Given the description of an element on the screen output the (x, y) to click on. 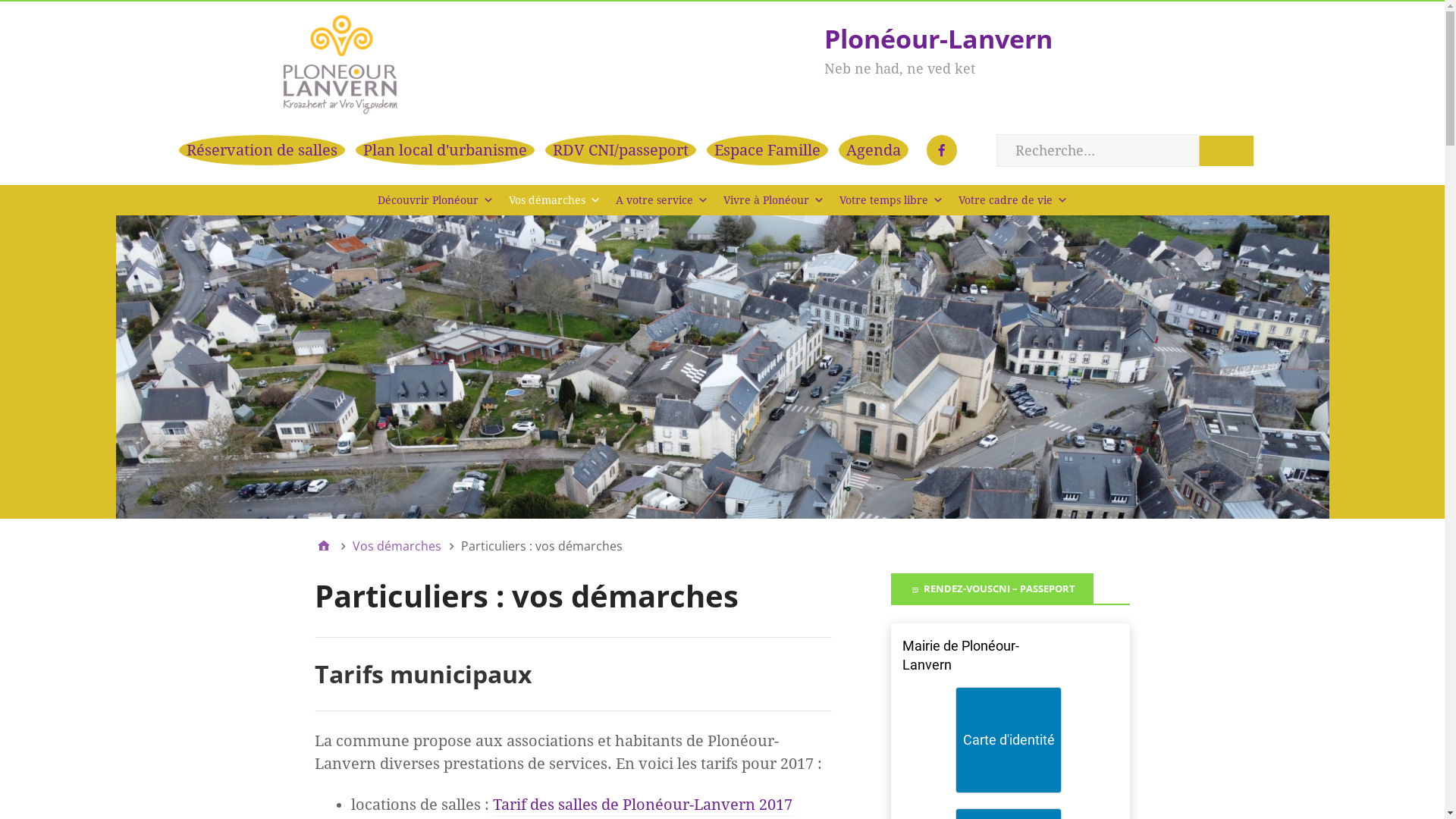
Agenda Element type: text (873, 149)
Votre temps libre Element type: text (890, 200)
Plan local d'urbanisme Element type: text (443, 149)
RDV CNI/passeport Element type: text (619, 149)
Espace Famille Element type: text (767, 149)
A votre service Element type: text (661, 200)
Votre cadre de vie Element type: text (1012, 200)
